Given the description of an element on the screen output the (x, y) to click on. 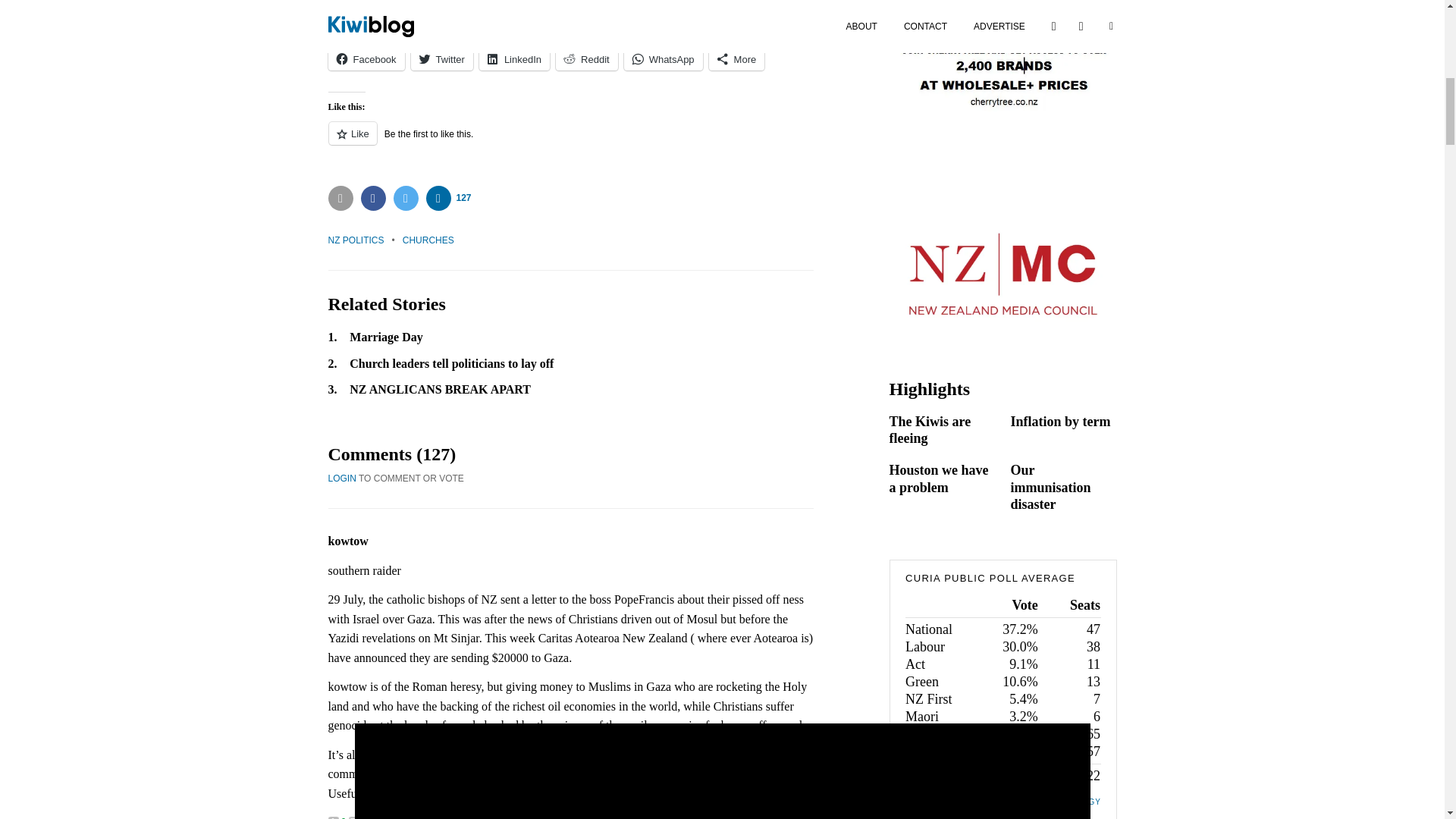
Click to share on LinkedIn (514, 58)
Click to share on Twitter (441, 58)
Click to share on Facebook (365, 58)
LinkedIn (514, 58)
Like or Reblog (569, 141)
Church leaders tell politicians to lay off (451, 363)
LOGIN (341, 478)
Click to share on Facebook (373, 197)
Facebook (365, 58)
CHURCHES (428, 240)
Click to share on Twitter (405, 197)
NZ POLITICS (355, 240)
Twitter (441, 58)
Click to share via email (339, 197)
LOG IN TO REPLY (424, 817)
